Given the description of an element on the screen output the (x, y) to click on. 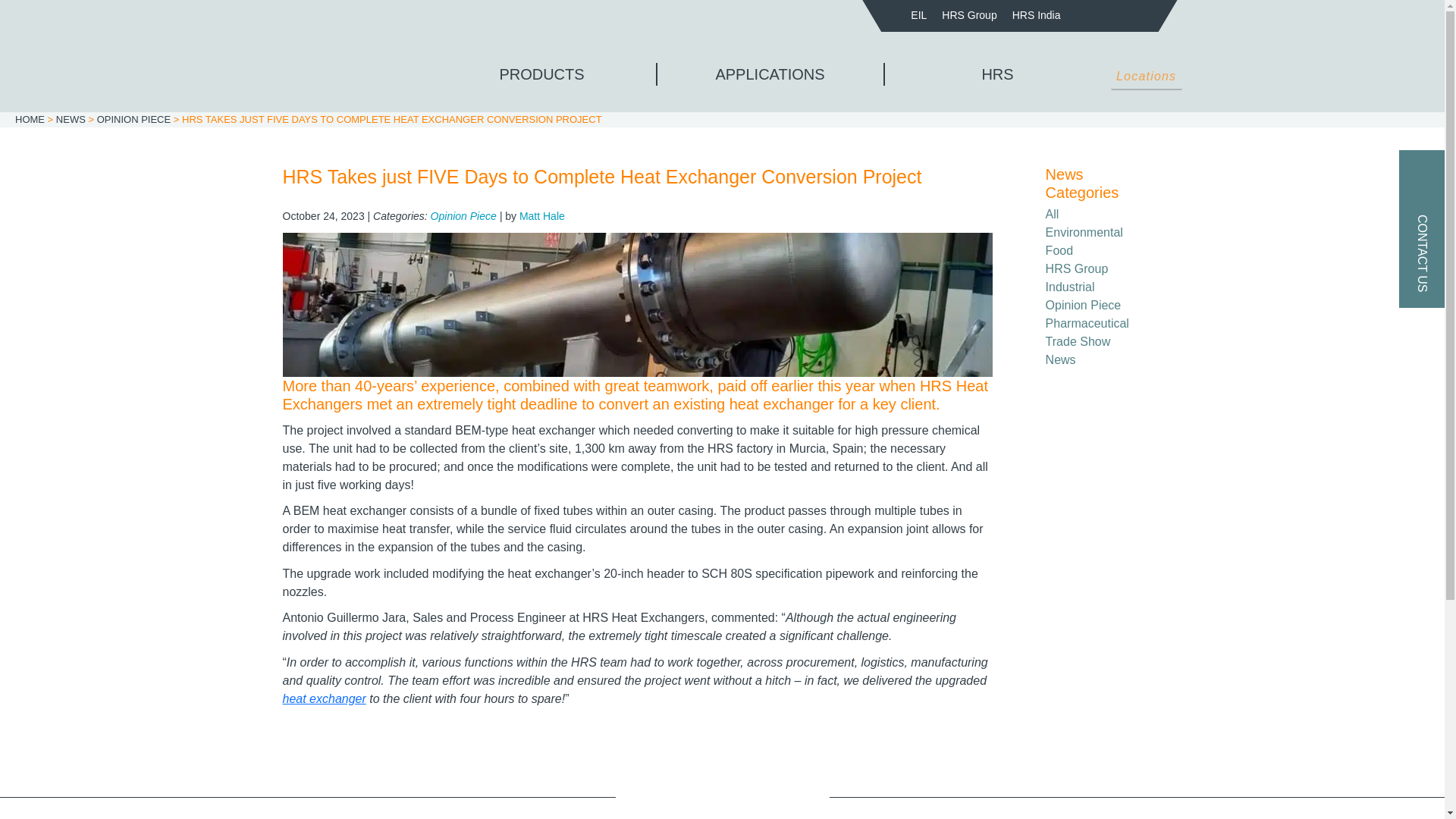
HRS India (1036, 15)
HRS Group (968, 15)
PRODUCTS (541, 74)
Posts by Matt Hale (541, 215)
EIL (918, 15)
